Given the description of an element on the screen output the (x, y) to click on. 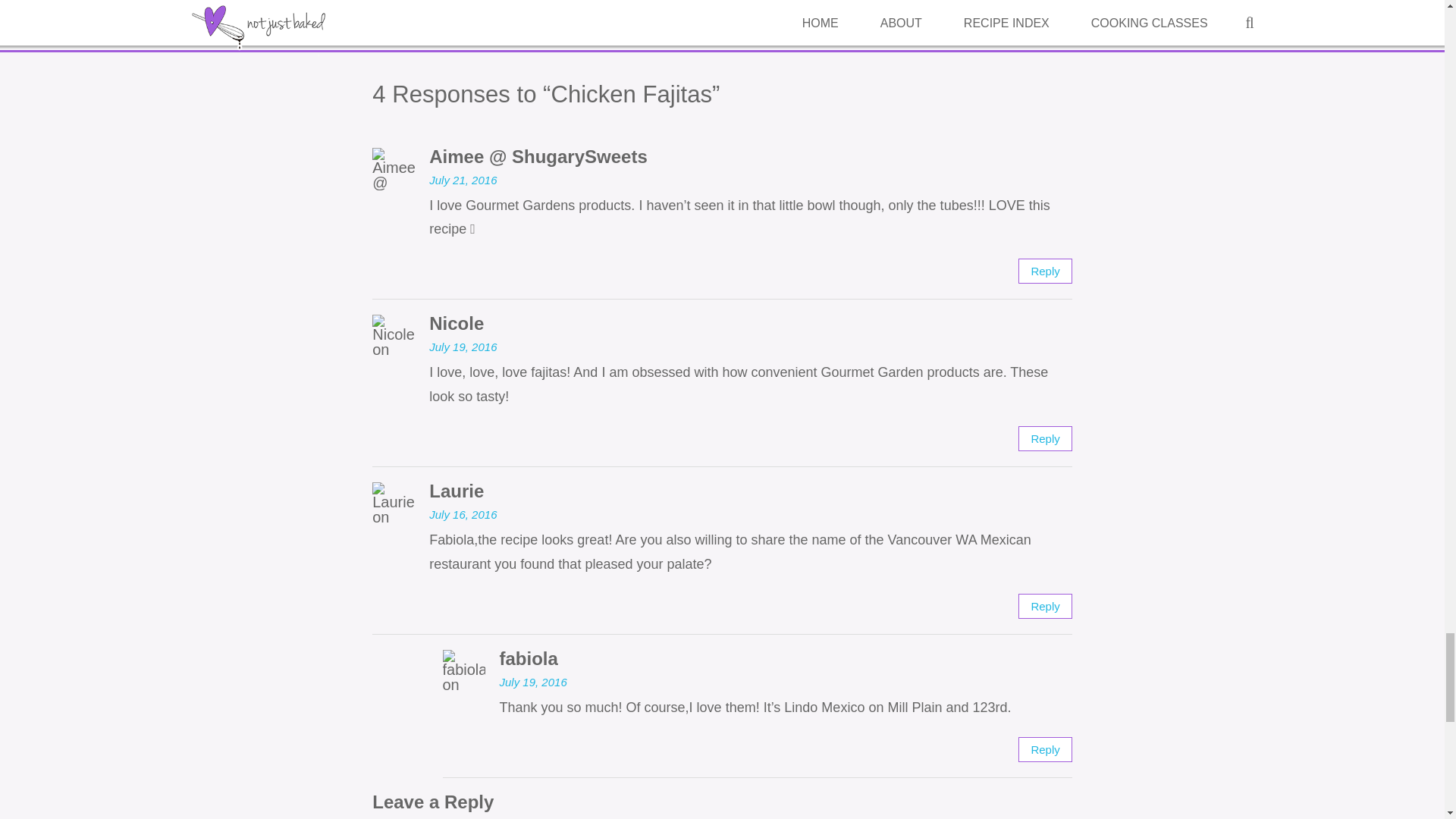
Mexican food (701, 20)
gluten free (460, 20)
Gourmet Garden (551, 20)
healthy (631, 20)
